Given the description of an element on the screen output the (x, y) to click on. 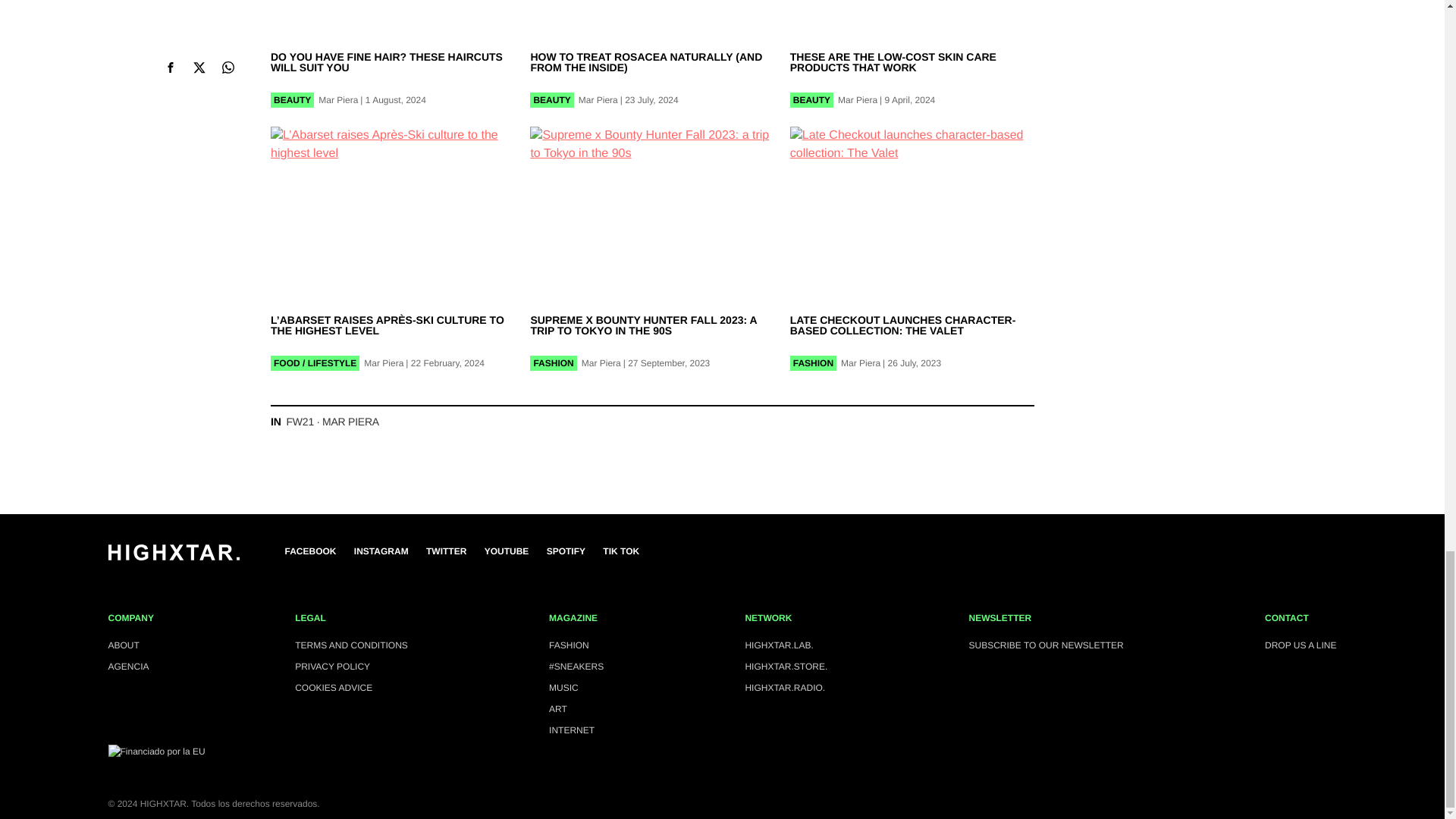
Instagram (381, 550)
Facebook (310, 550)
Spotify (565, 550)
YouTube (507, 550)
Twitter (446, 550)
Enlace a Inicio (172, 557)
